Given the description of an element on the screen output the (x, y) to click on. 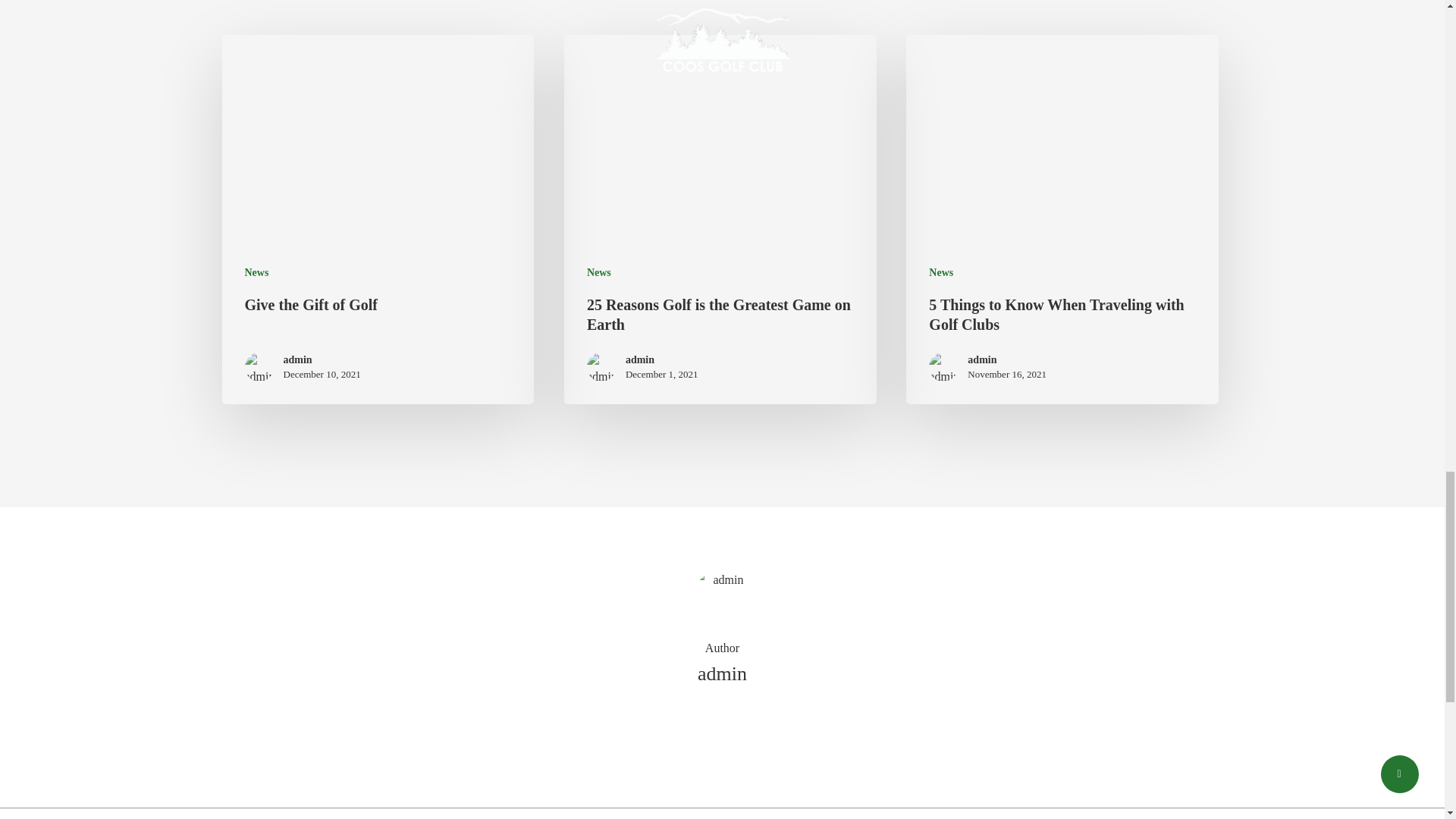
admin (322, 359)
News (940, 272)
More Posts By Admin (721, 727)
admin (1007, 359)
News (255, 272)
admin (662, 359)
News (598, 272)
